Given the description of an element on the screen output the (x, y) to click on. 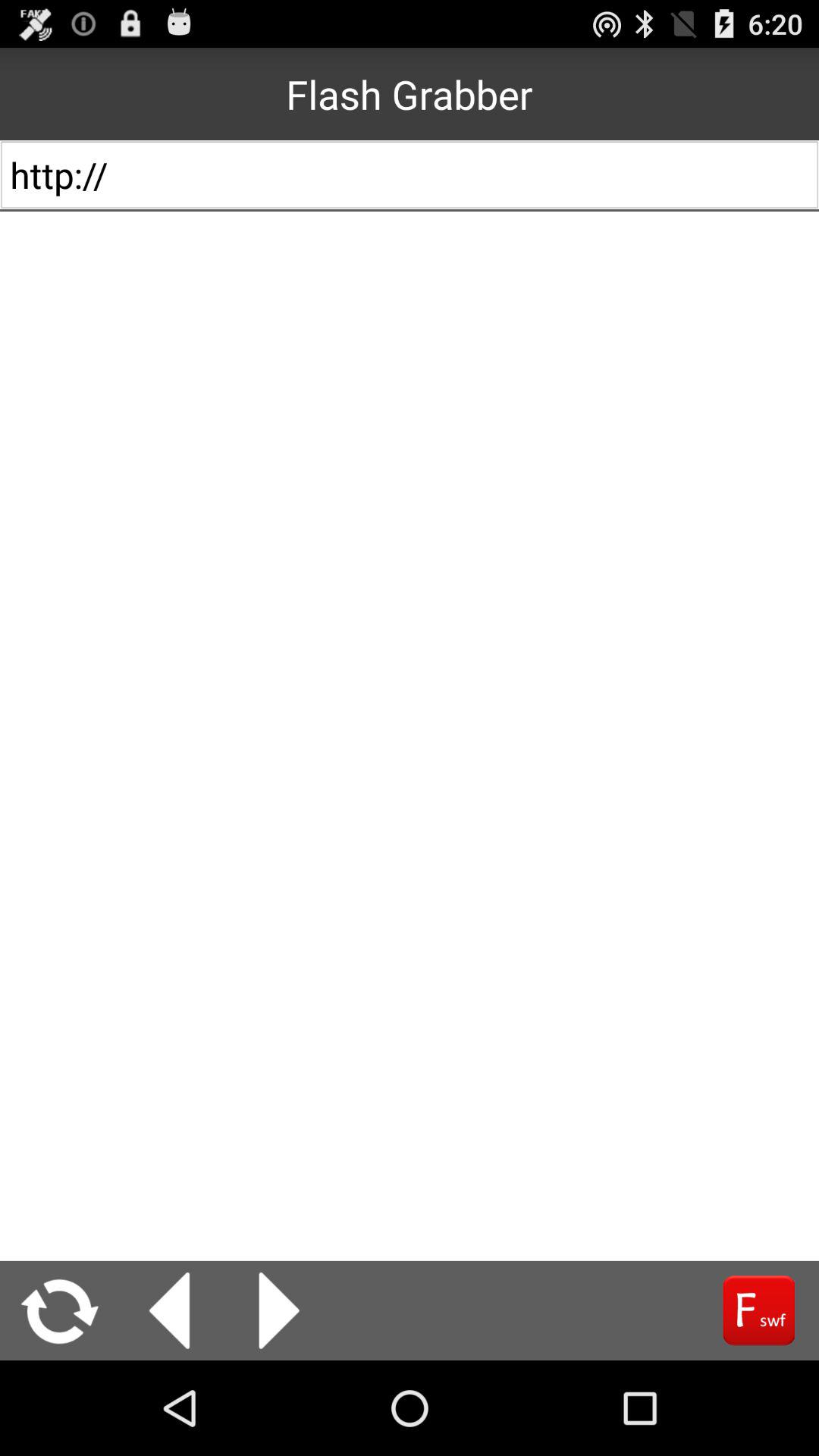
go back button (169, 1310)
